Given the description of an element on the screen output the (x, y) to click on. 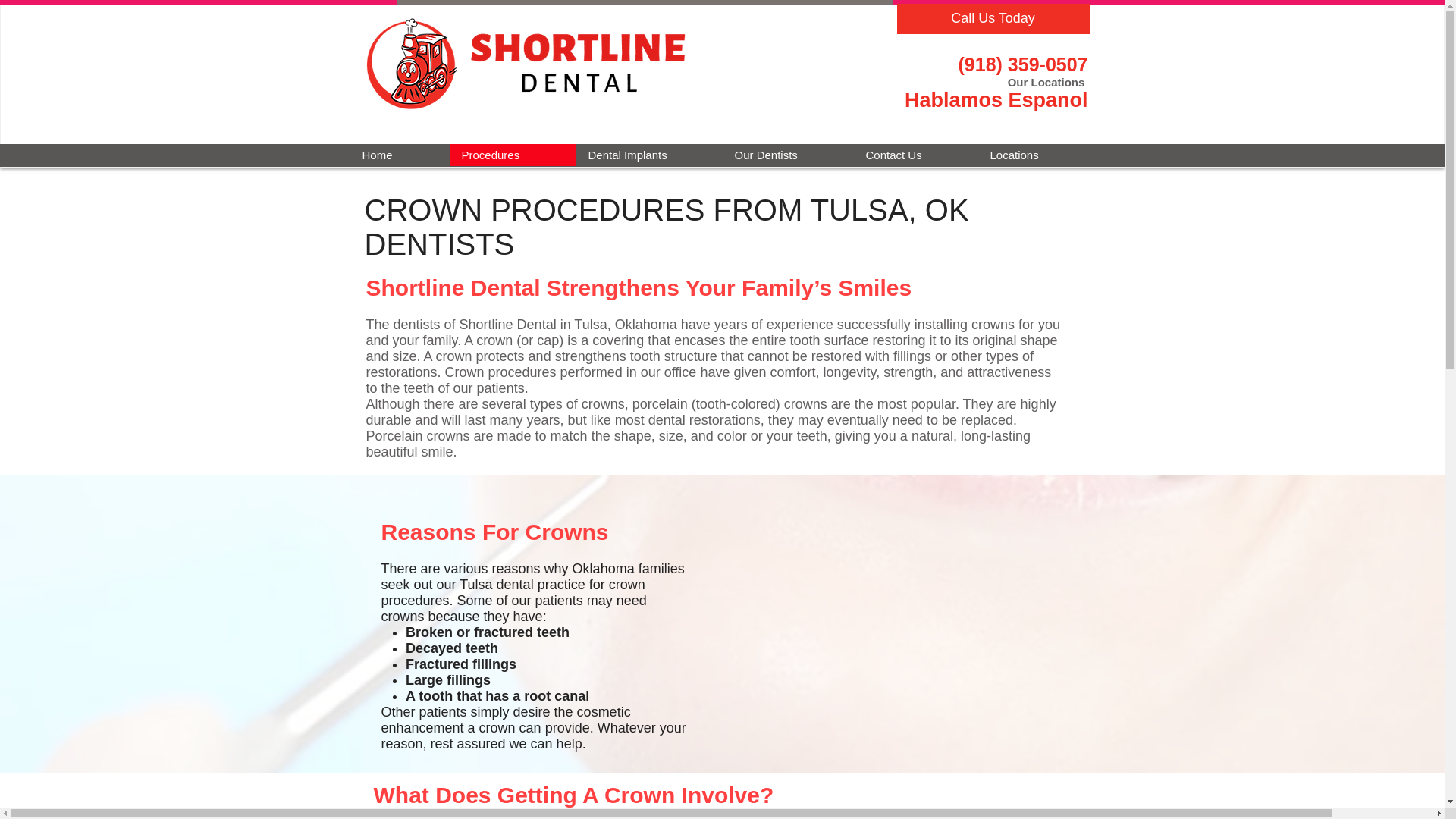
Procedures (511, 155)
Locations (1036, 155)
Dental Implants (649, 155)
Our Dentists (787, 155)
Our Locations  (1047, 82)
Contact Us (915, 155)
Home (399, 155)
Call Us Today (992, 19)
